Given the description of an element on the screen output the (x, y) to click on. 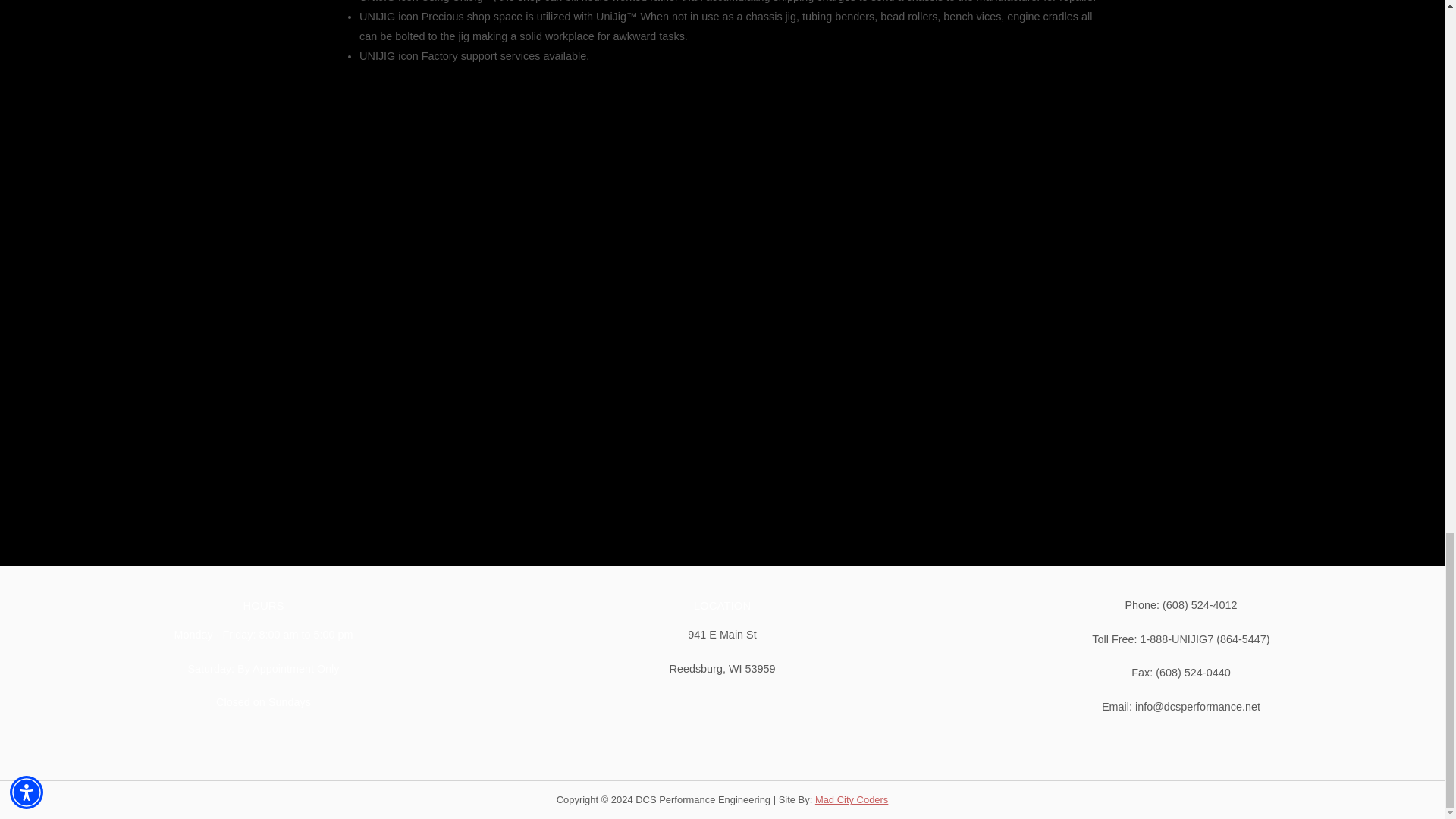
Mad City Coders (851, 799)
